Given the description of an element on the screen output the (x, y) to click on. 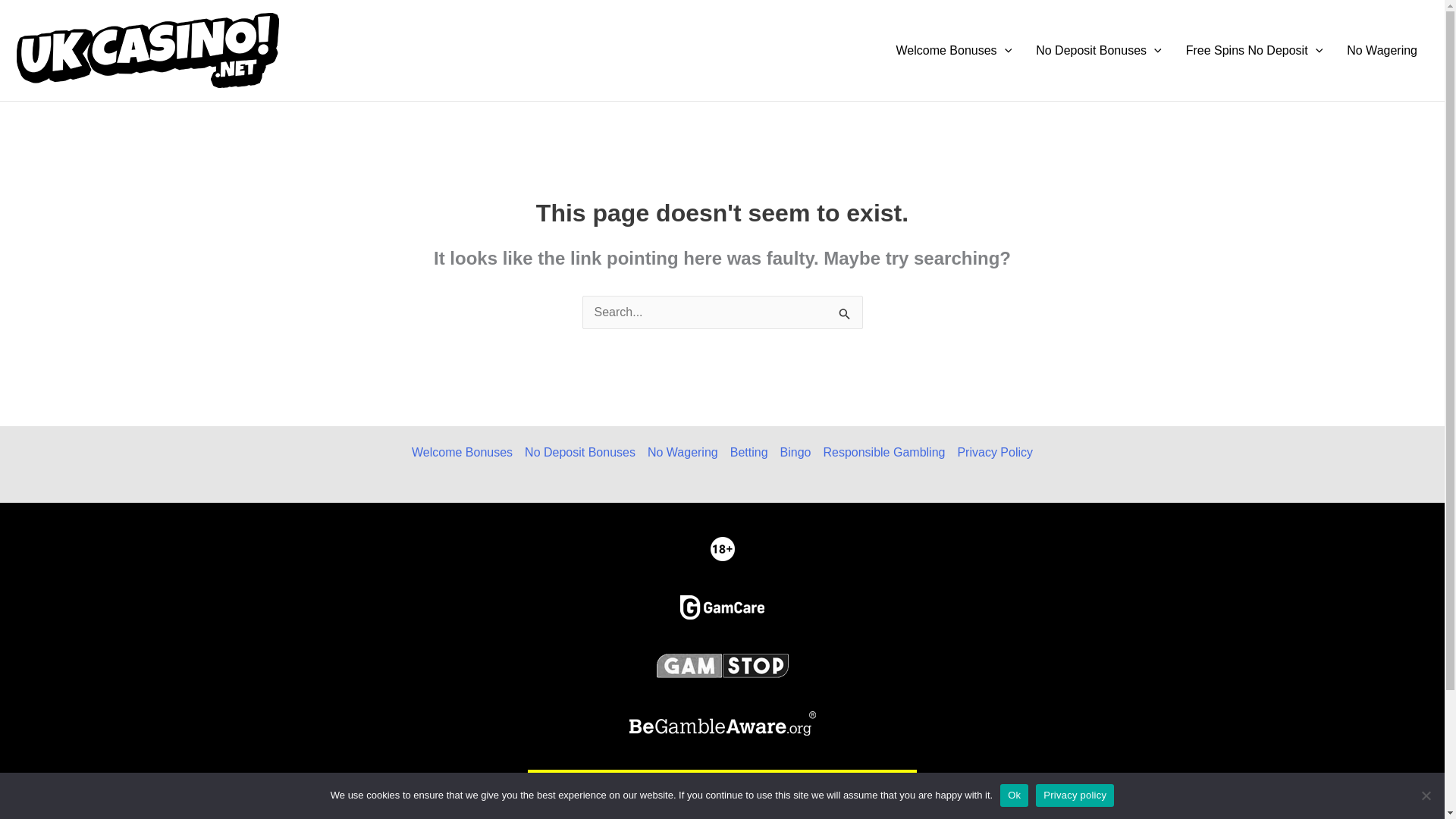
Free Spins No Deposit (1254, 49)
No Wagering (1382, 49)
No Deposit Bonuses (1098, 49)
Welcome Bonuses (954, 49)
No (1425, 795)
